Given the description of an element on the screen output the (x, y) to click on. 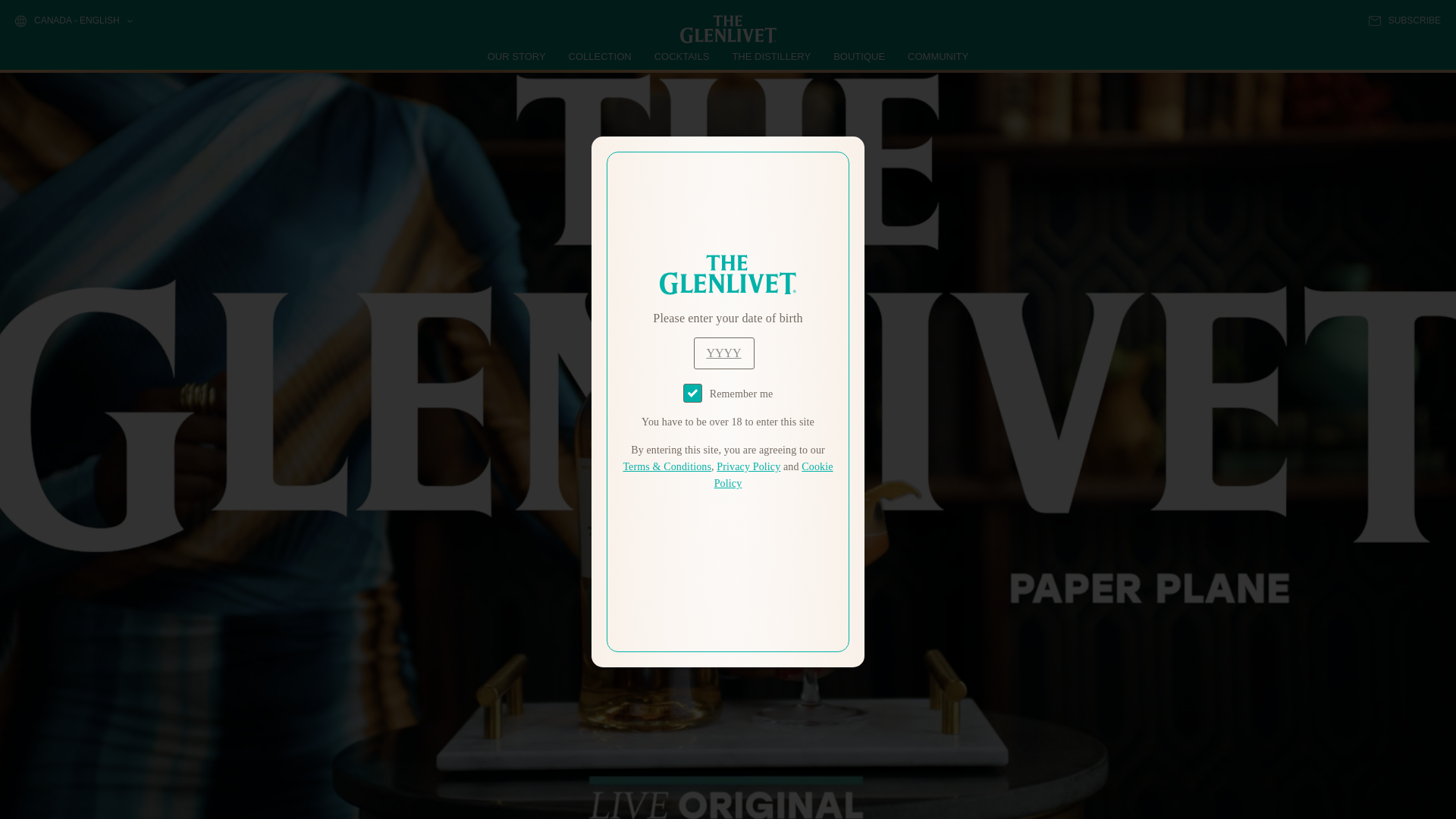
CANADA - ENGLISH (73, 21)
THE DISTILLERY (771, 56)
Cookie Policy (773, 474)
Privacy Policy (748, 466)
COMMUNITY (937, 56)
OUR STORY (516, 56)
SUBSCRIBE (1404, 20)
BOUTIQUE (858, 56)
COCKTAILS (681, 56)
COLLECTION (600, 56)
